Given the description of an element on the screen output the (x, y) to click on. 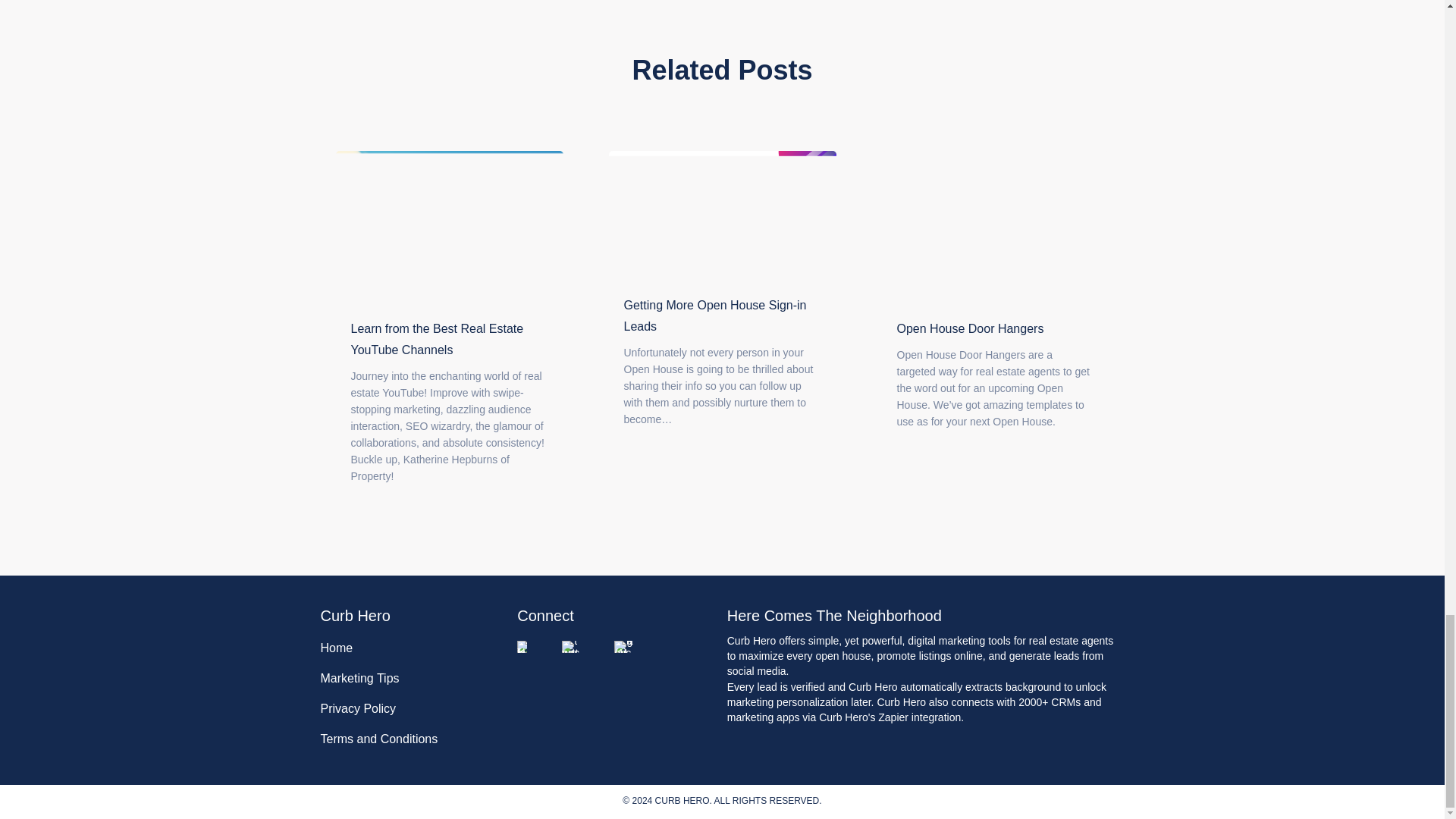
Open House Door Hangers (969, 328)
twittericon (571, 646)
Getting More Open House Sign-in Leads (721, 214)
Learn from the Best Real Estate YouTube Channels (436, 339)
Open House Door Hangers (994, 225)
Getting More Open House Sign-in Leads (714, 315)
Learn from the Best Real Estate YouTube Channels (448, 225)
